Given the description of an element on the screen output the (x, y) to click on. 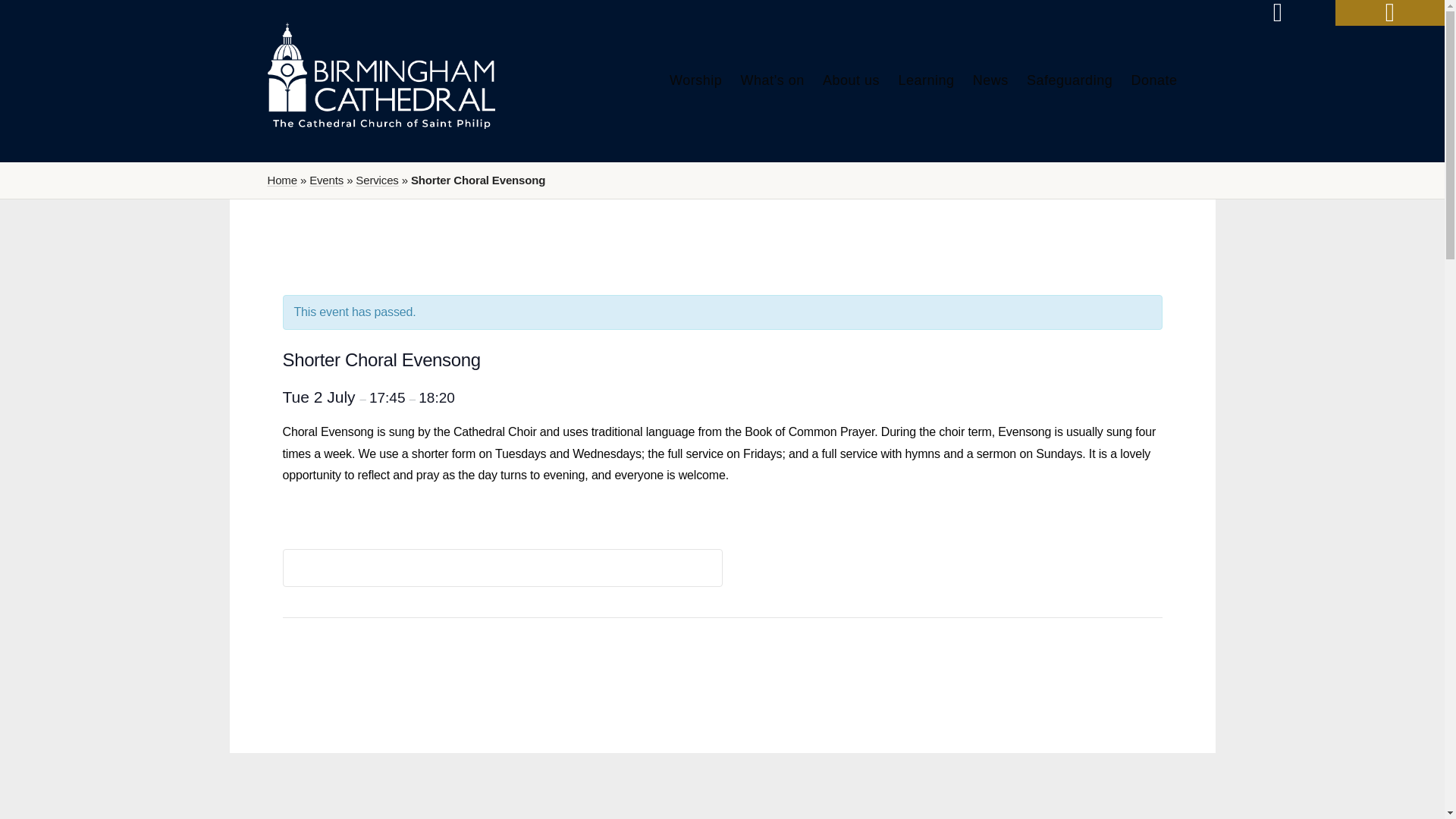
Worship (695, 80)
Learning (925, 80)
Safeguarding (1069, 80)
Donate (1153, 80)
About us (850, 80)
